Given the description of an element on the screen output the (x, y) to click on. 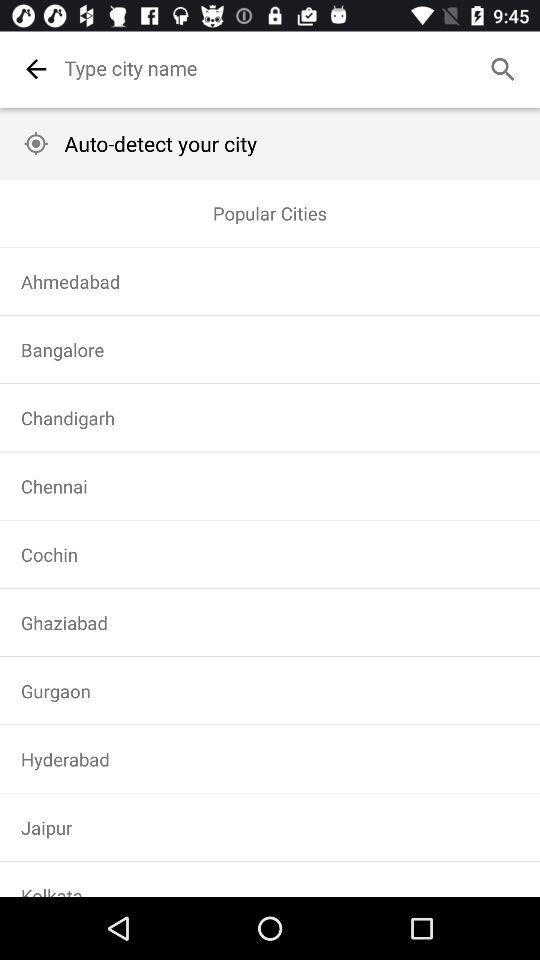
auto detect location (36, 143)
